Given the description of an element on the screen output the (x, y) to click on. 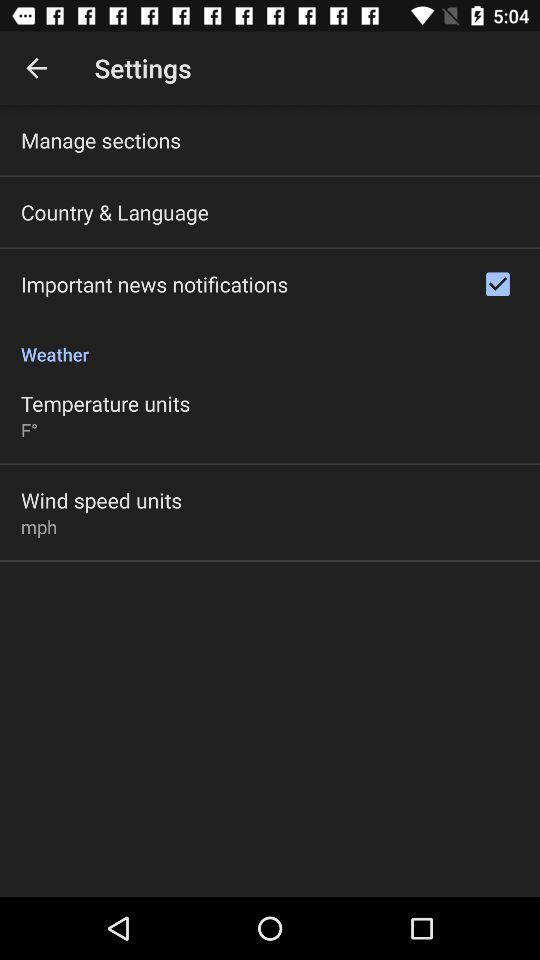
scroll until the country & language icon (114, 211)
